Given the description of an element on the screen output the (x, y) to click on. 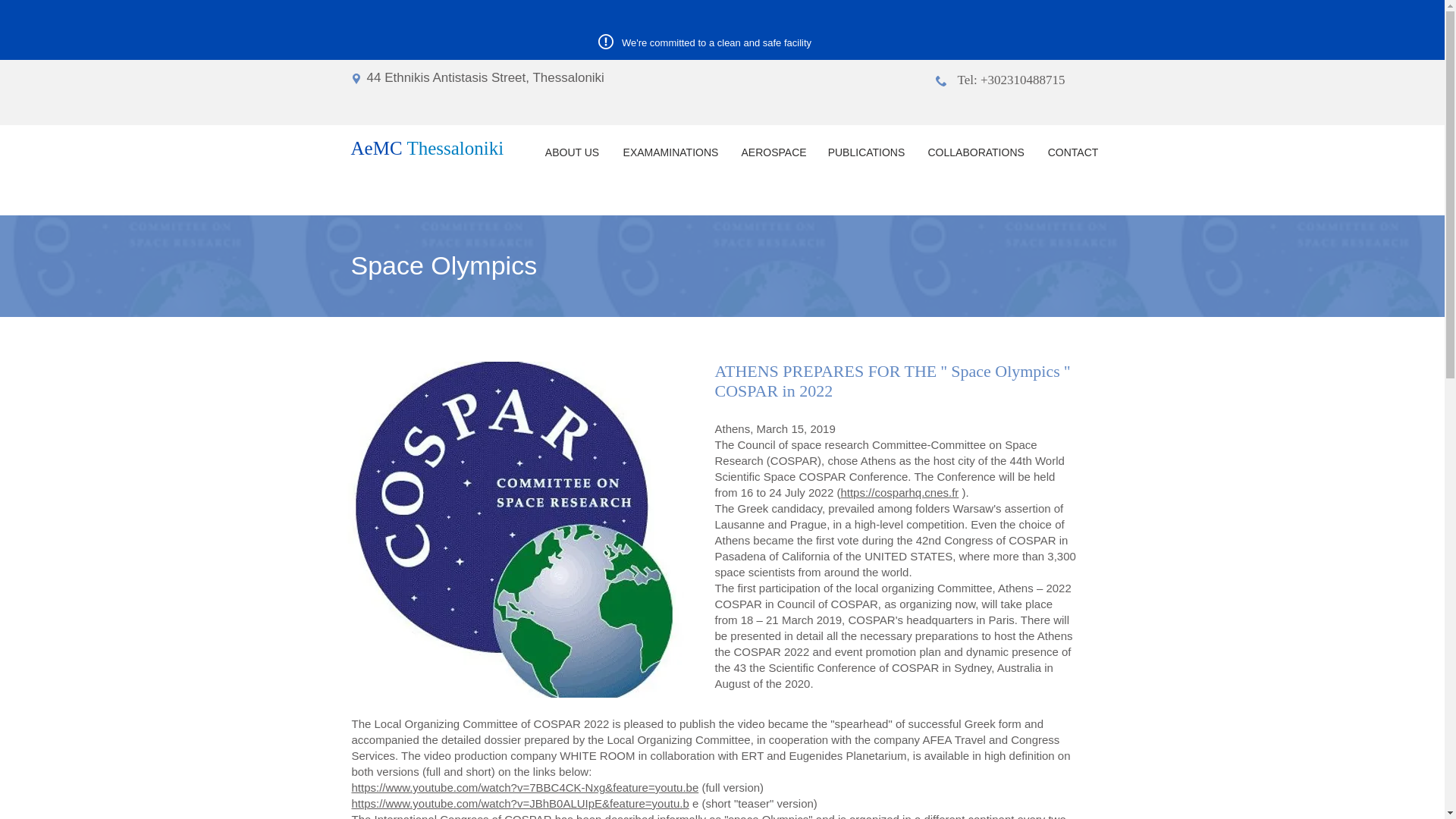
PUBLICATIONS (865, 152)
COLLABORATIONS (975, 152)
ABOUT US (571, 152)
CONTACT (1072, 152)
AeMC Thessaloniki (426, 148)
